Given the description of an element on the screen output the (x, y) to click on. 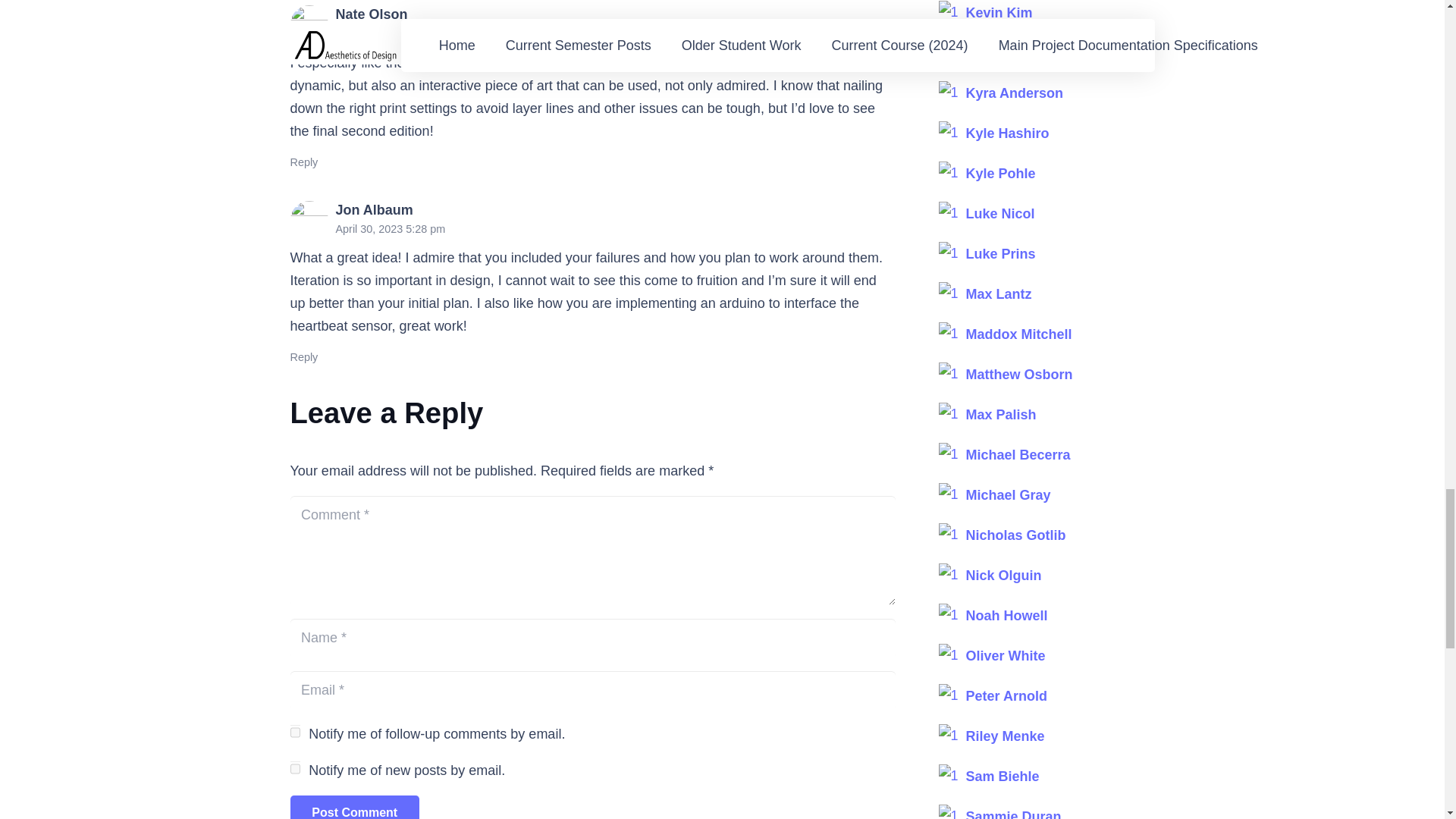
April 30, 2023 5:54 pm (389, 33)
April 30, 2023 5:28 pm (389, 228)
